Given the description of an element on the screen output the (x, y) to click on. 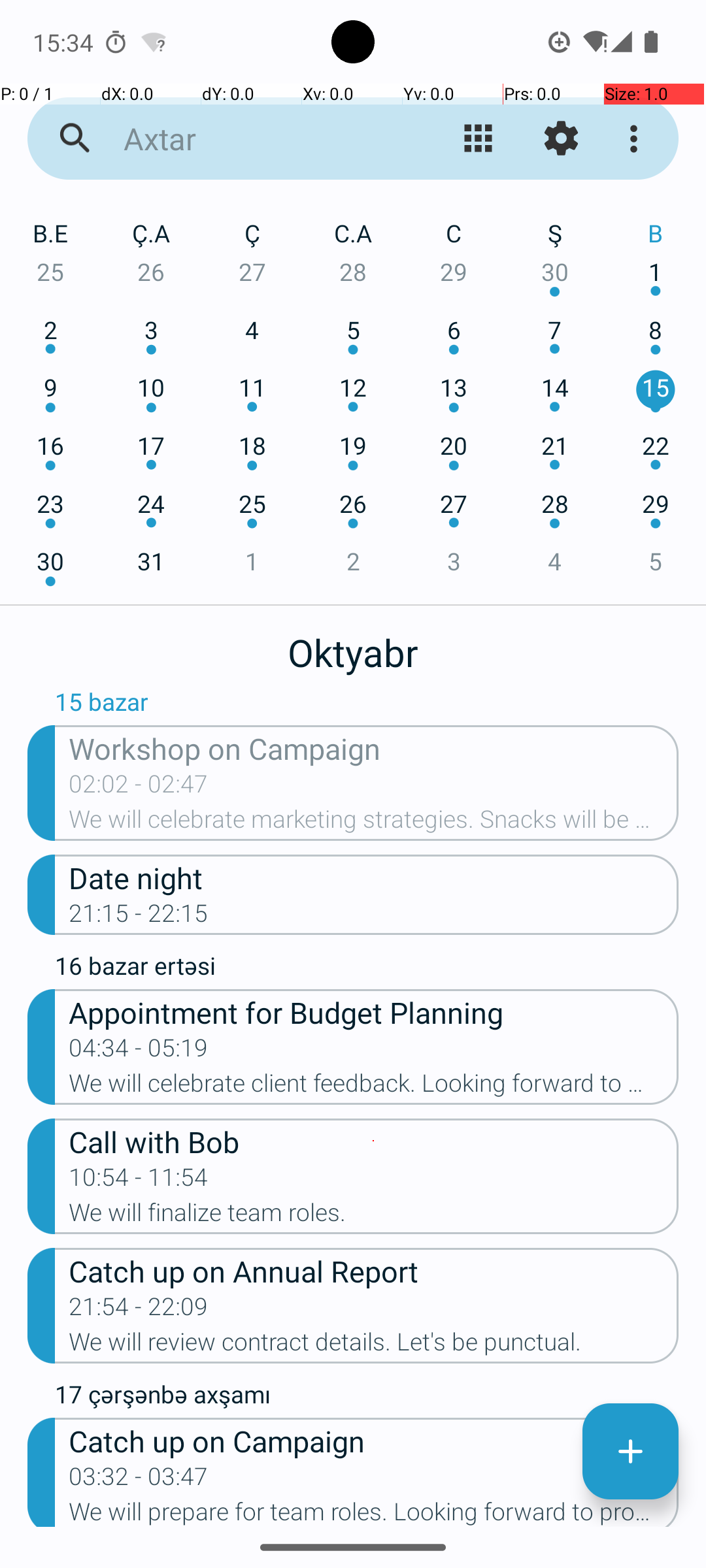
15 bazar Element type: android.widget.TextView (366, 704)
16 bazar ertəsi Element type: android.widget.TextView (366, 968)
17 çərşənbə axşamı Element type: android.widget.TextView (366, 1397)
02:02 - 02:47 Element type: android.widget.TextView (137, 787)
We will celebrate marketing strategies. Snacks will be provided. Element type: android.widget.TextView (373, 822)
Date night Element type: android.widget.TextView (373, 876)
21:15 - 22:15 Element type: android.widget.TextView (137, 916)
04:34 - 05:19 Element type: android.widget.TextView (137, 1051)
We will celebrate client feedback. Looking forward to productive discussions. Element type: android.widget.TextView (373, 1086)
10:54 - 11:54 Element type: android.widget.TextView (137, 1180)
We will finalize team roles. Element type: android.widget.TextView (373, 1216)
21:54 - 22:09 Element type: android.widget.TextView (137, 1310)
We will review contract details. Let's be punctual. Element type: android.widget.TextView (373, 1345)
03:32 - 03:47 Element type: android.widget.TextView (137, 1480)
We will prepare for team roles. Looking forward to productive discussions. Element type: android.widget.TextView (373, 1512)
